Given the description of an element on the screen output the (x, y) to click on. 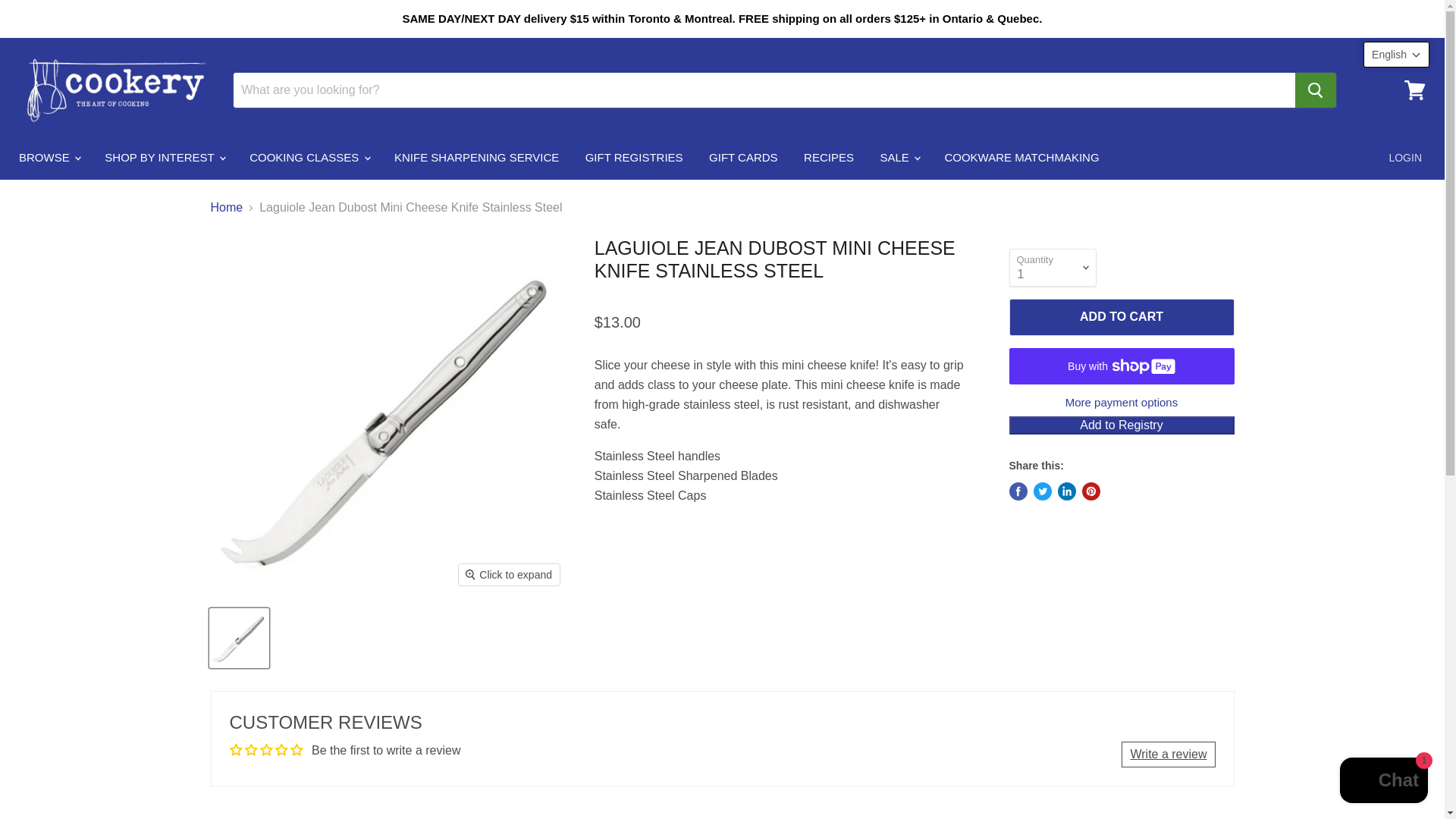
Add to Registry (1121, 425)
View cart (1414, 89)
BROWSE (48, 157)
